Given the description of an element on the screen output the (x, y) to click on. 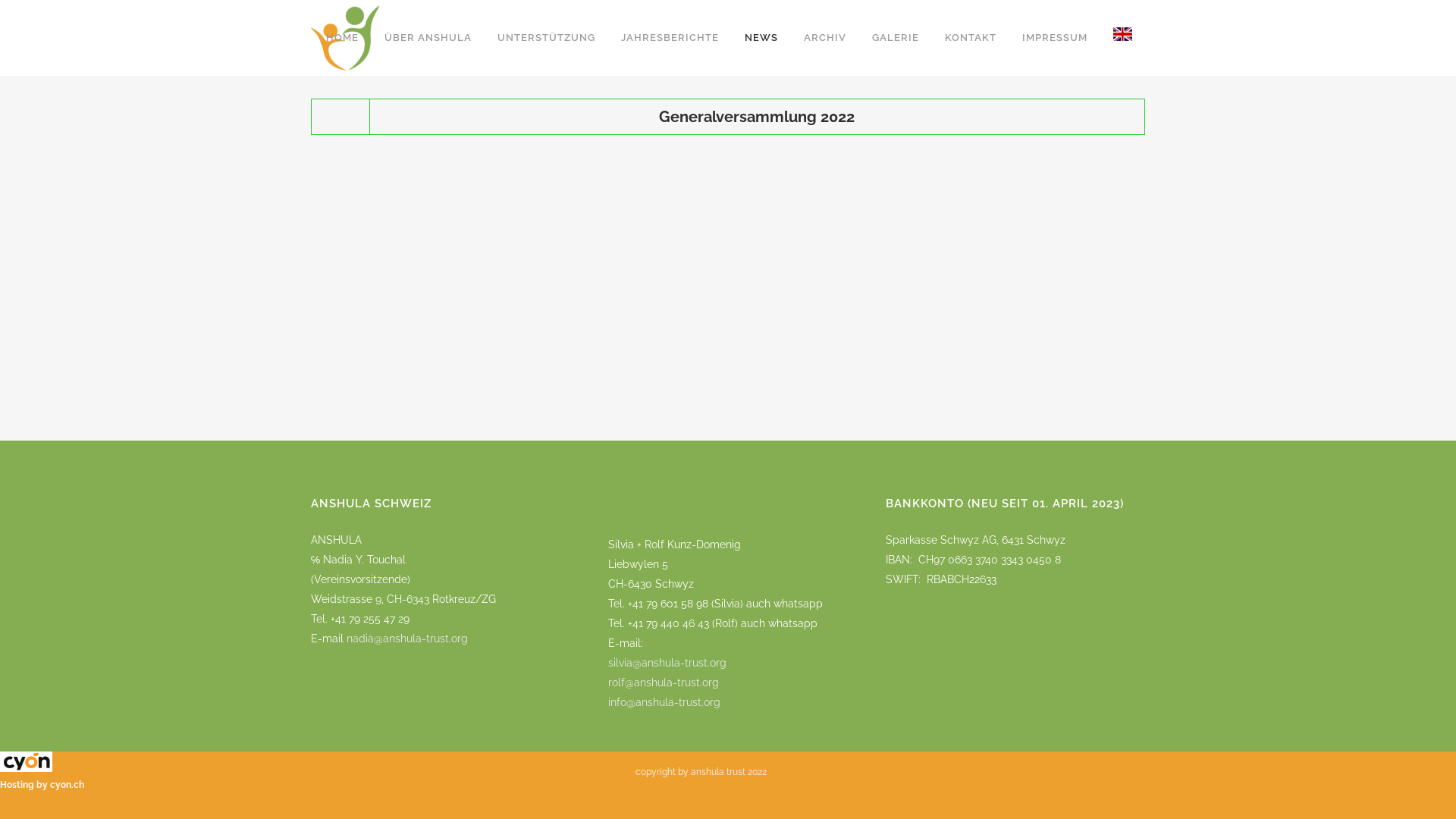
info@anshula-trust.org Element type: text (664, 712)
ARCHIV Element type: text (824, 37)
KONTAKT Element type: text (970, 37)
cyon.ch Element type: text (67, 784)
English Element type: hover (1122, 37)
Generalversammlung 2022 Element type: text (756, 116)
rolf@anshula-trust.org Element type: text (663, 682)
IMPRESSUM Element type: text (1054, 37)
NEWS Element type: text (760, 37)
HOME Element type: text (342, 37)
JAHRESBERICHTE Element type: text (669, 37)
nadia@anshula-trust.org Element type: text (406, 638)
GALERIE Element type: text (895, 37)
silvia@anshula-trust.org Element type: text (667, 662)
